Given the description of an element on the screen output the (x, y) to click on. 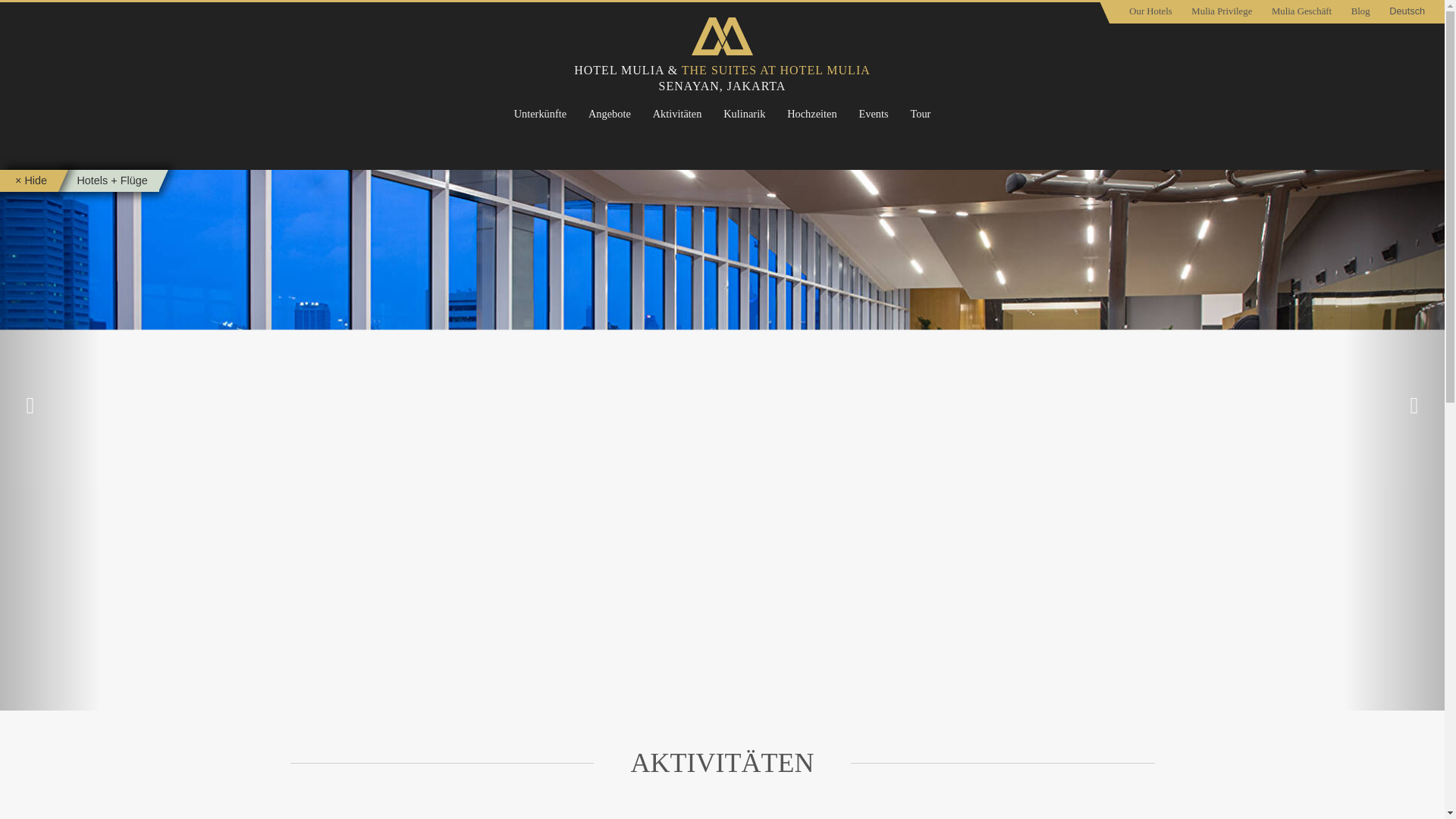
Our Hotels (1149, 11)
HOTEL MULIA (618, 69)
Blog (1359, 11)
Mulia Privilege (1222, 11)
THE SUITES AT HOTEL MULIA (775, 69)
Deutsch (1406, 11)
